Given the description of an element on the screen output the (x, y) to click on. 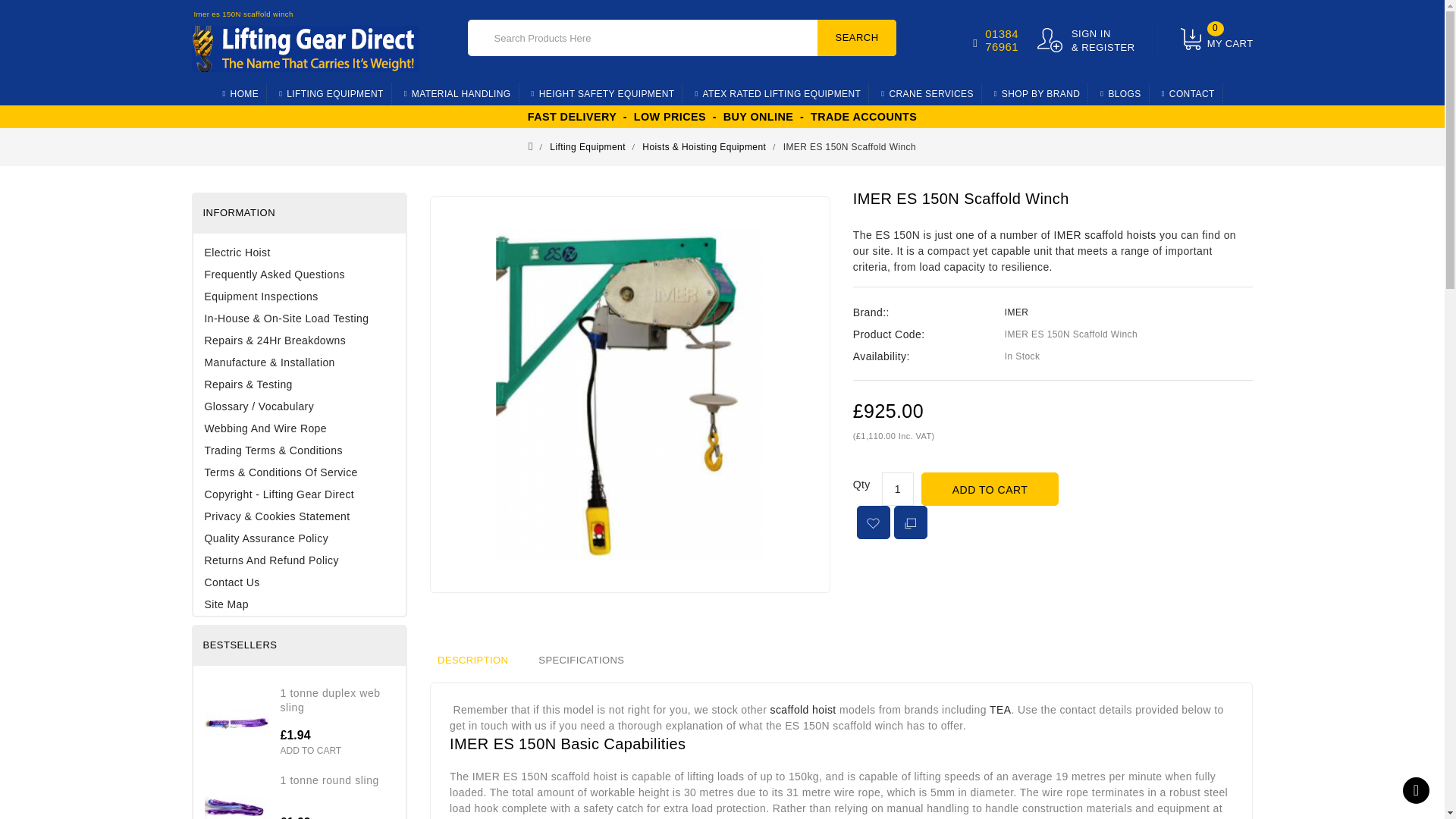
1 Tonne Round Sling (237, 796)
Lifting Gear Direct Limited (304, 48)
1 (898, 489)
Sign In (1085, 40)
